Given the description of an element on the screen output the (x, y) to click on. 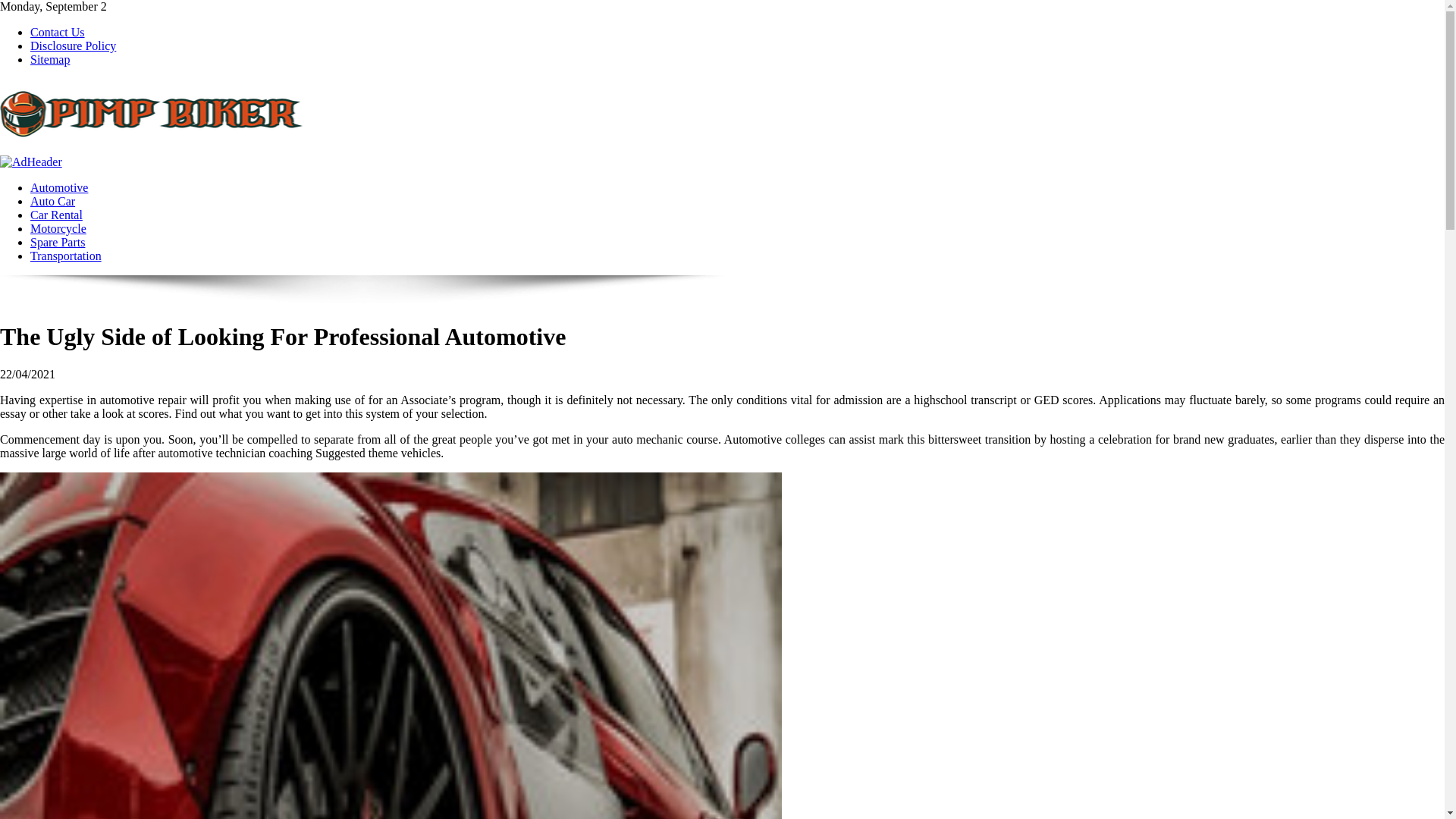
Auto Car (52, 201)
Spare Parts (57, 241)
Transportation (65, 255)
Automotive (58, 187)
Motorcycle (57, 228)
Car Rental (56, 214)
Sitemap (49, 59)
Contact Us (57, 31)
Disclosure Policy (73, 45)
